Given the description of an element on the screen output the (x, y) to click on. 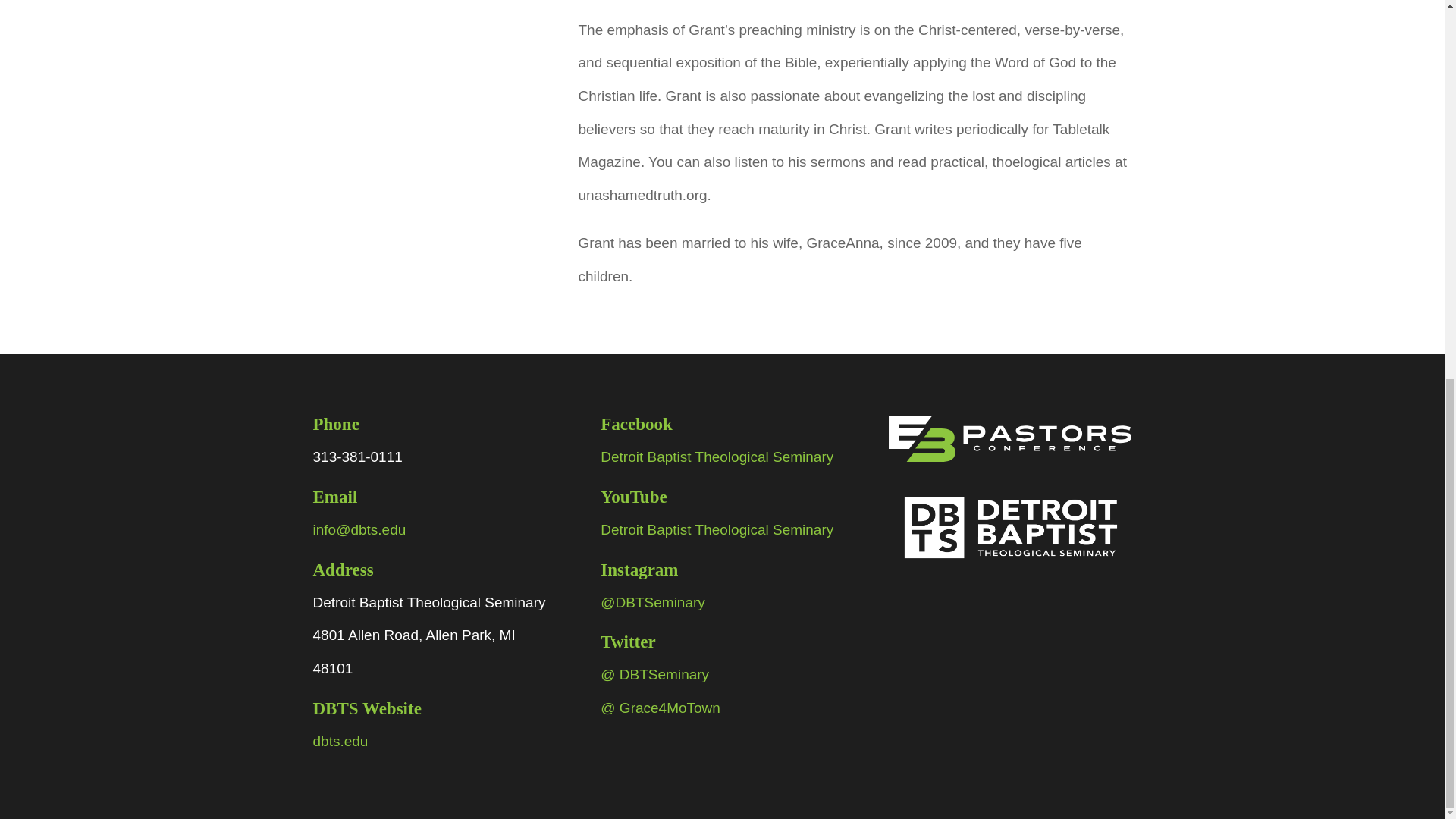
LOGO E3 Pastors Conference REVERSED (1009, 438)
dbts.edu (340, 741)
Detroit Baptist Theological Seminary (715, 529)
Detroit Baptist Theological Seminary (715, 456)
